Given the description of an element on the screen output the (x, y) to click on. 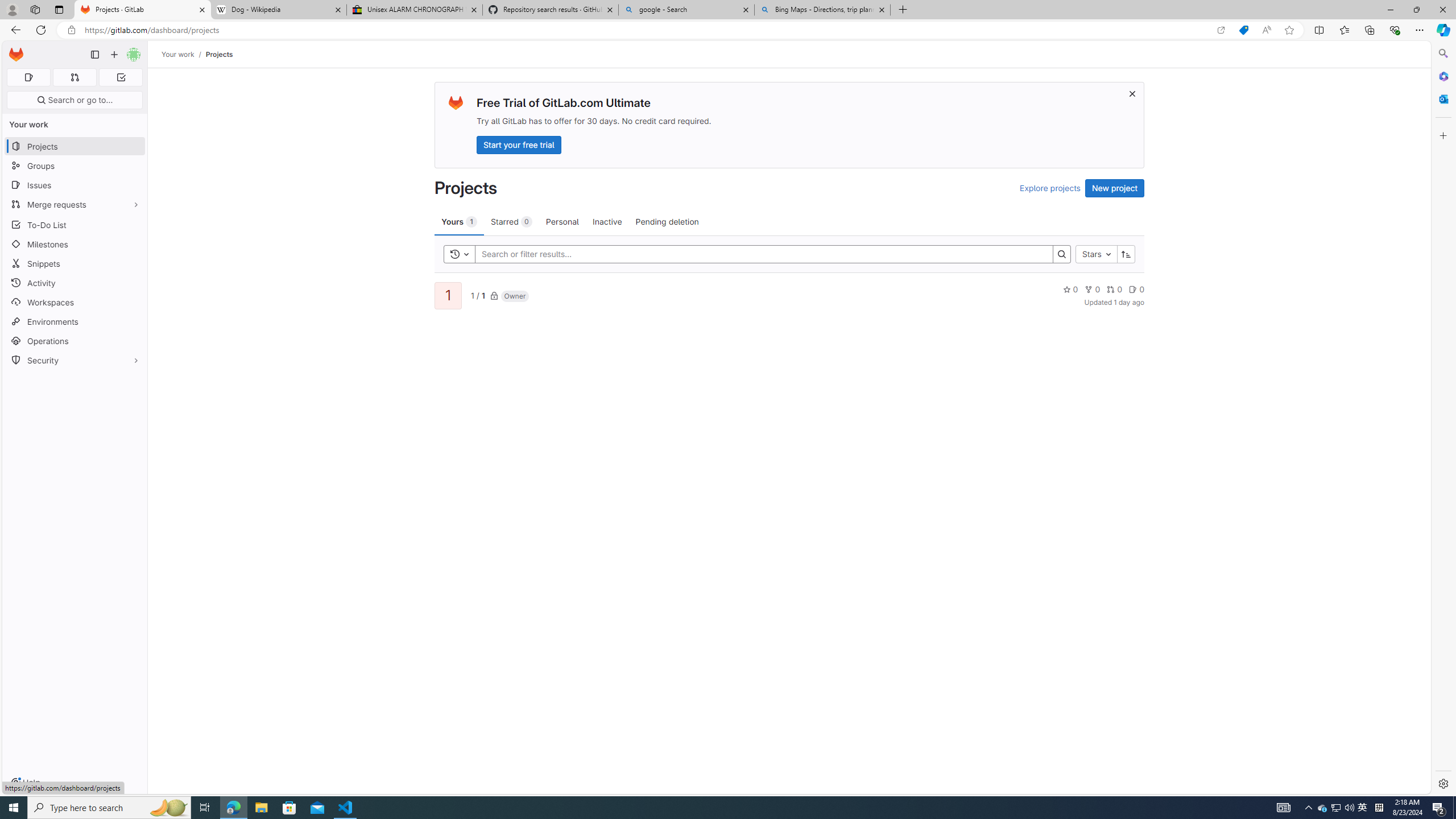
Starred 0 (510, 221)
Activity (74, 282)
Operations (74, 340)
0 (1136, 288)
1 / 1 (477, 294)
Merge requests (74, 203)
Toggle history (460, 253)
Sort direction: Ascending (1125, 253)
Your work/ (183, 53)
Address and search bar (647, 29)
1 (447, 295)
